Given the description of an element on the screen output the (x, y) to click on. 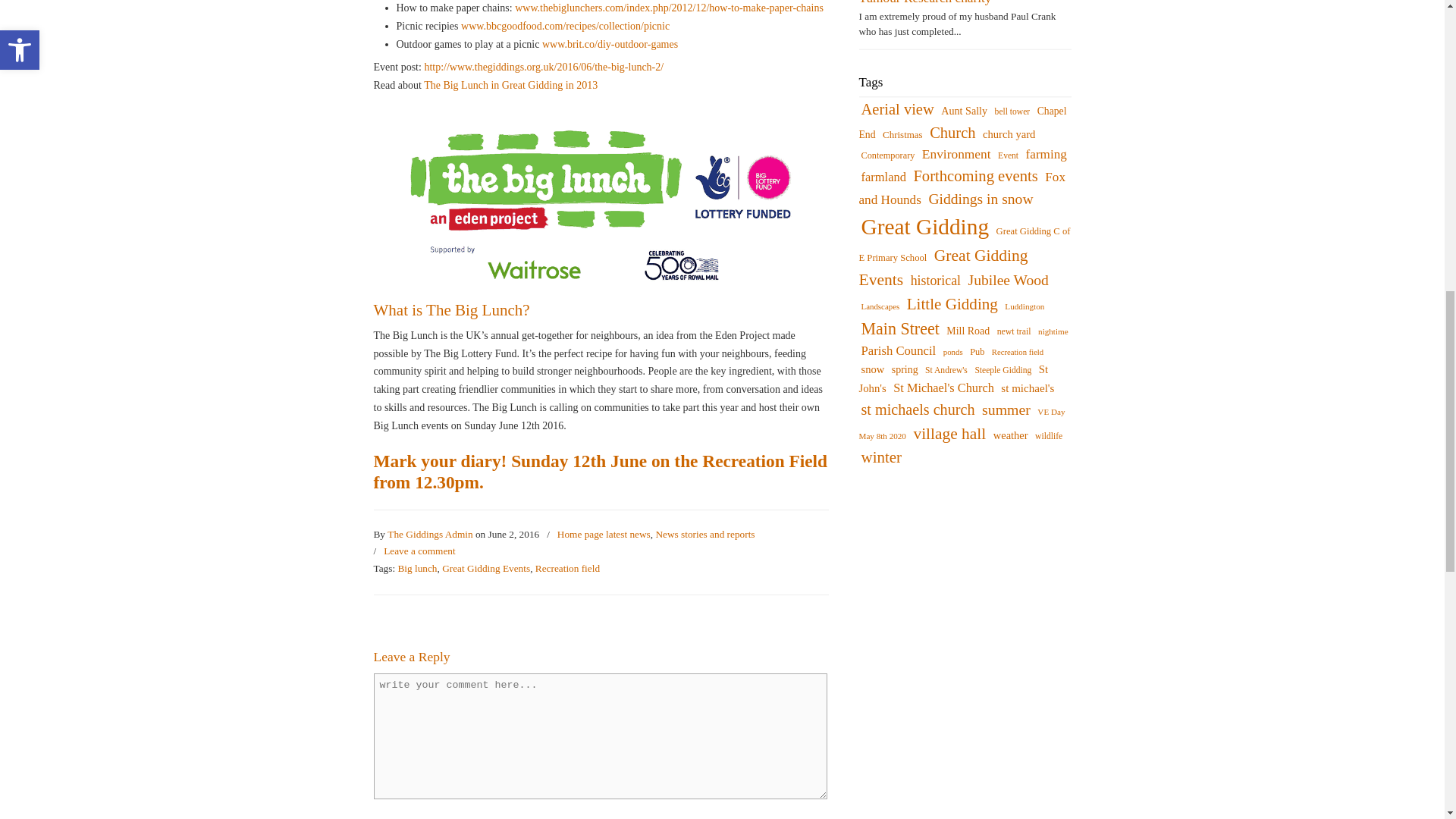
Posts by The Giddings Admin (429, 534)
